Given the description of an element on the screen output the (x, y) to click on. 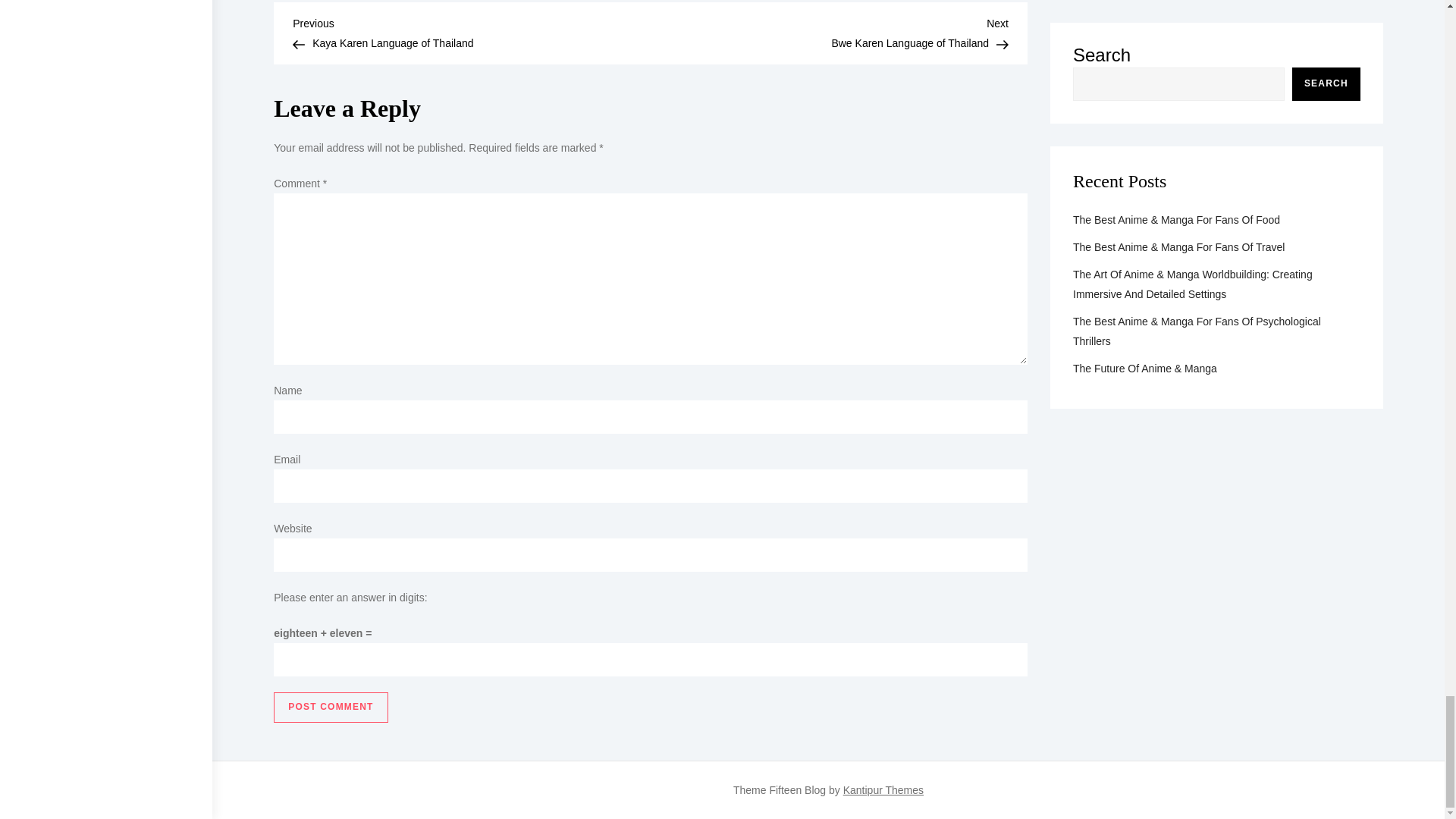
Post Comment (330, 707)
Kantipur Themes (883, 789)
Post Comment (330, 707)
